Given the description of an element on the screen output the (x, y) to click on. 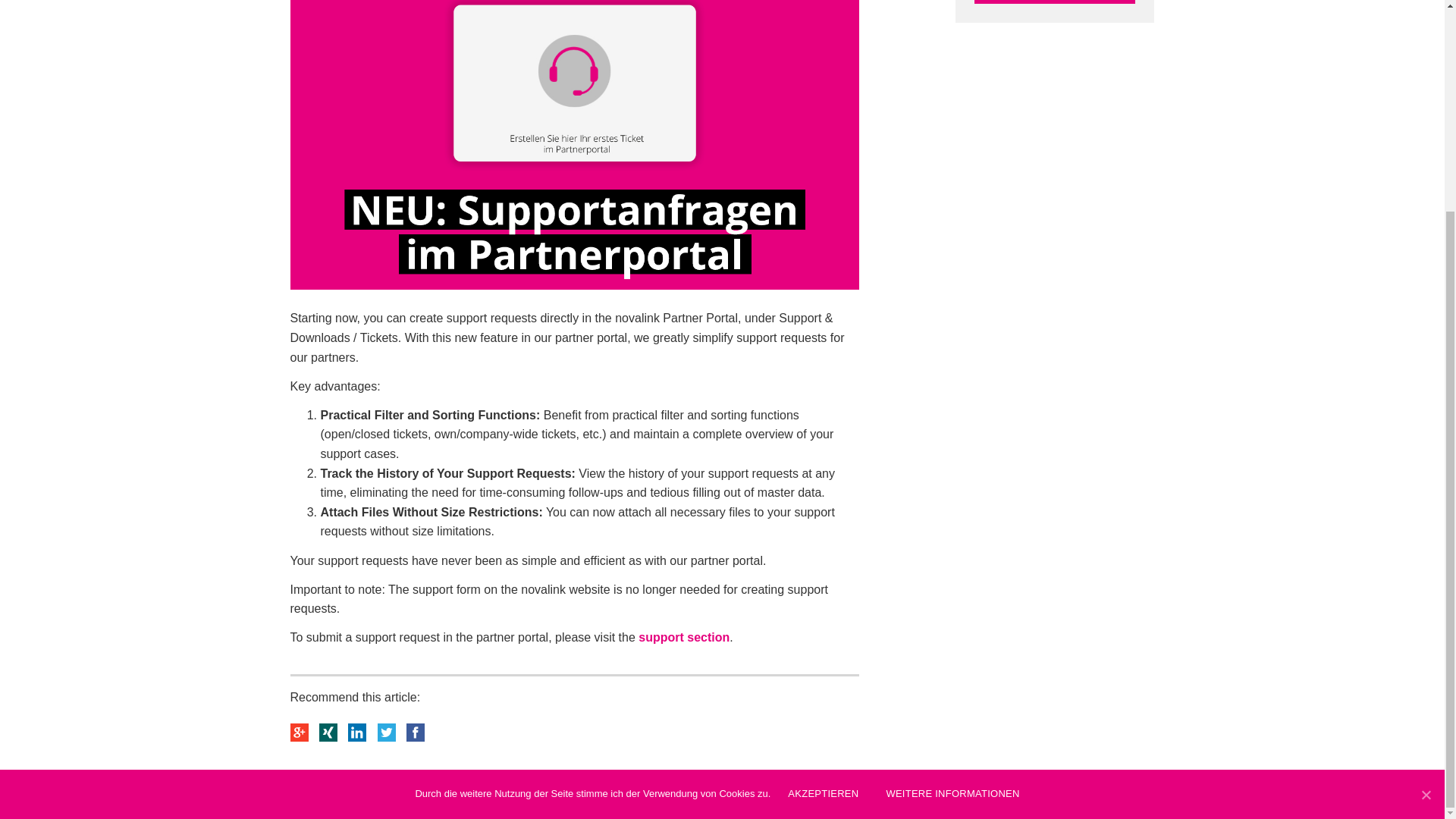
support section (684, 636)
